Given the description of an element on the screen output the (x, y) to click on. 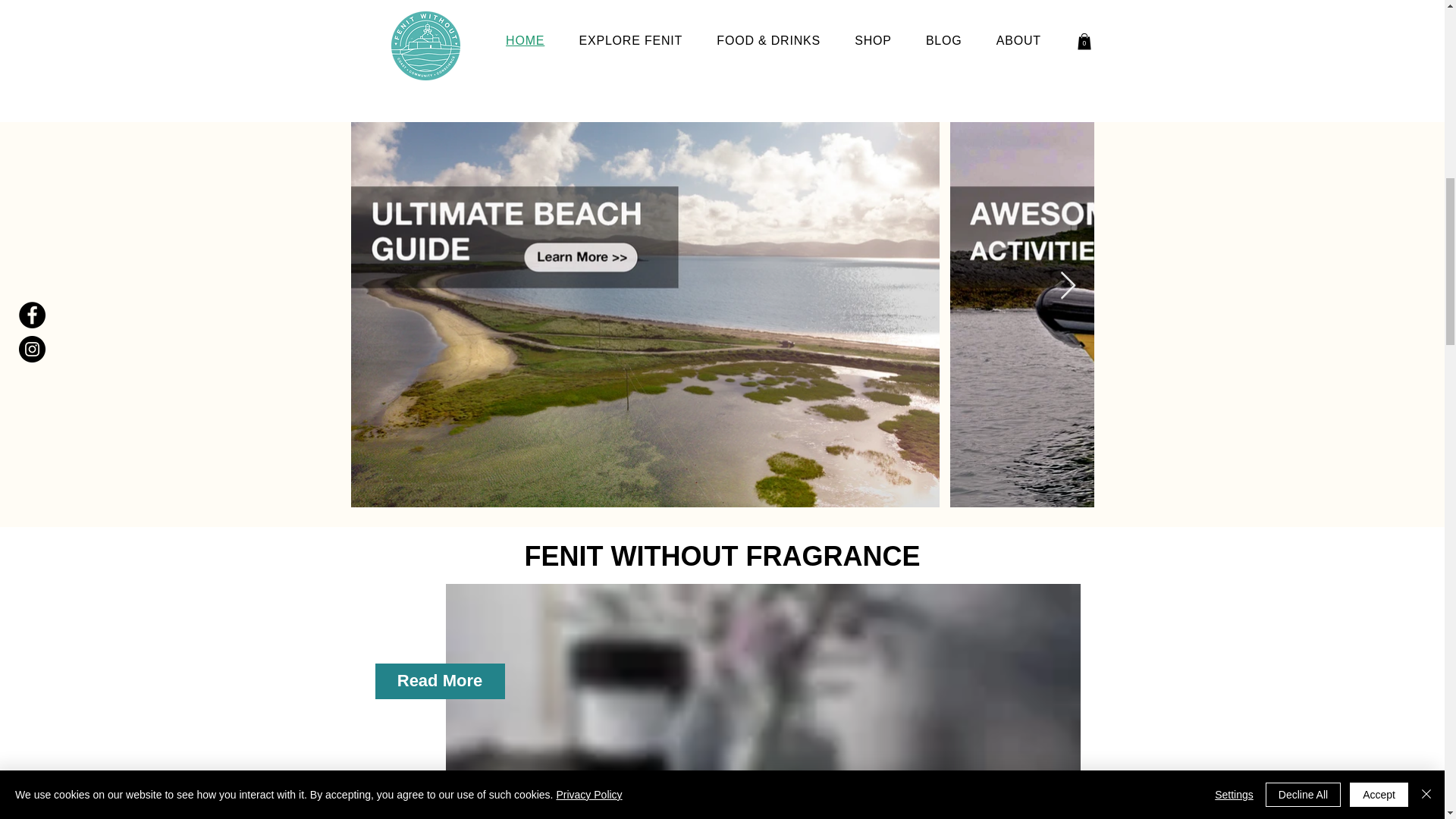
Read More (438, 681)
